Given the description of an element on the screen output the (x, y) to click on. 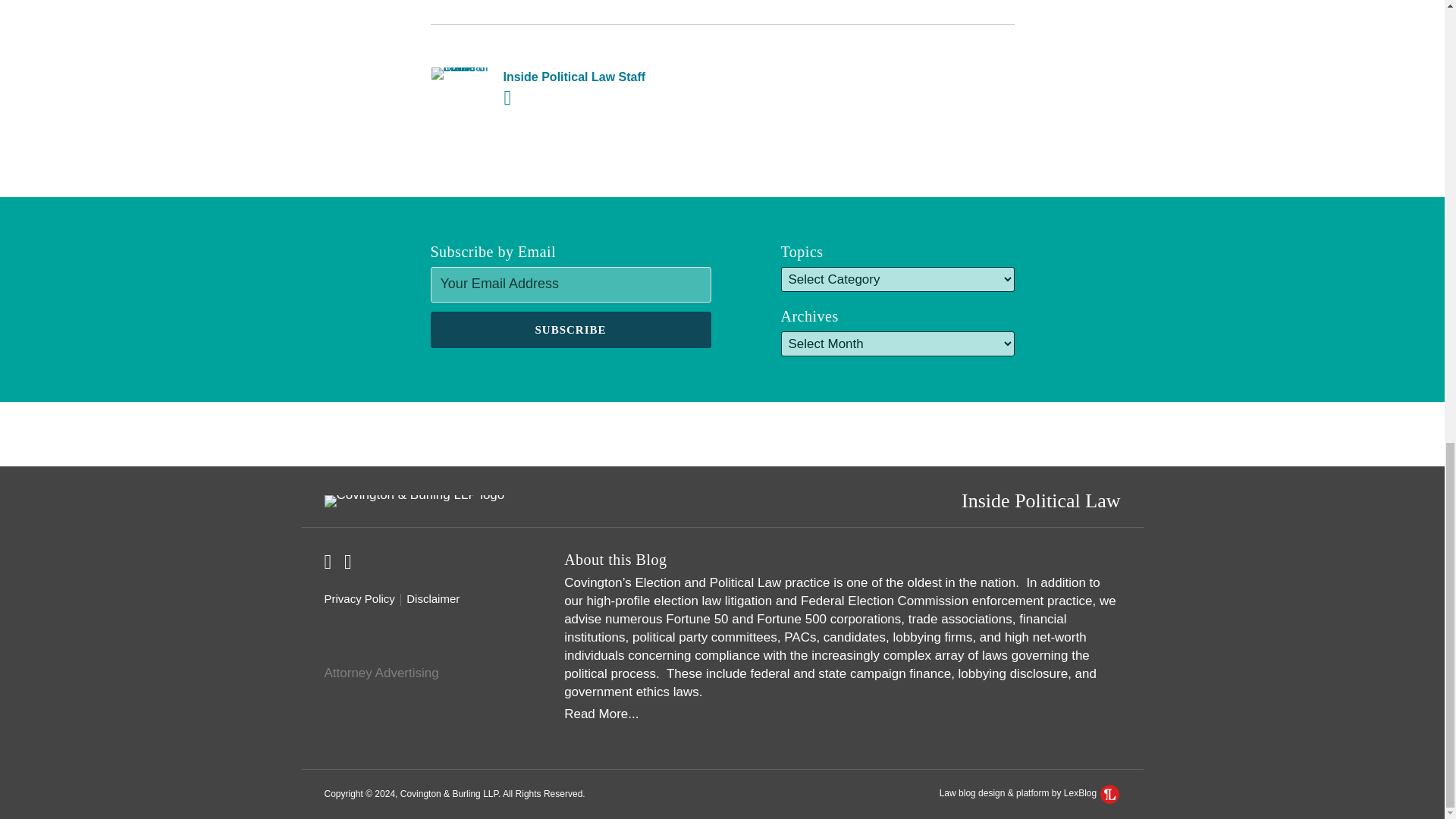
Subscribe (570, 330)
Read More... (841, 714)
Subscribe (570, 330)
Inside Political Law (1039, 500)
LexBlog Logo (1109, 793)
Privacy Policy (359, 598)
Inside Political Law Staff (721, 76)
Disclaimer (433, 598)
